Given the description of an element on the screen output the (x, y) to click on. 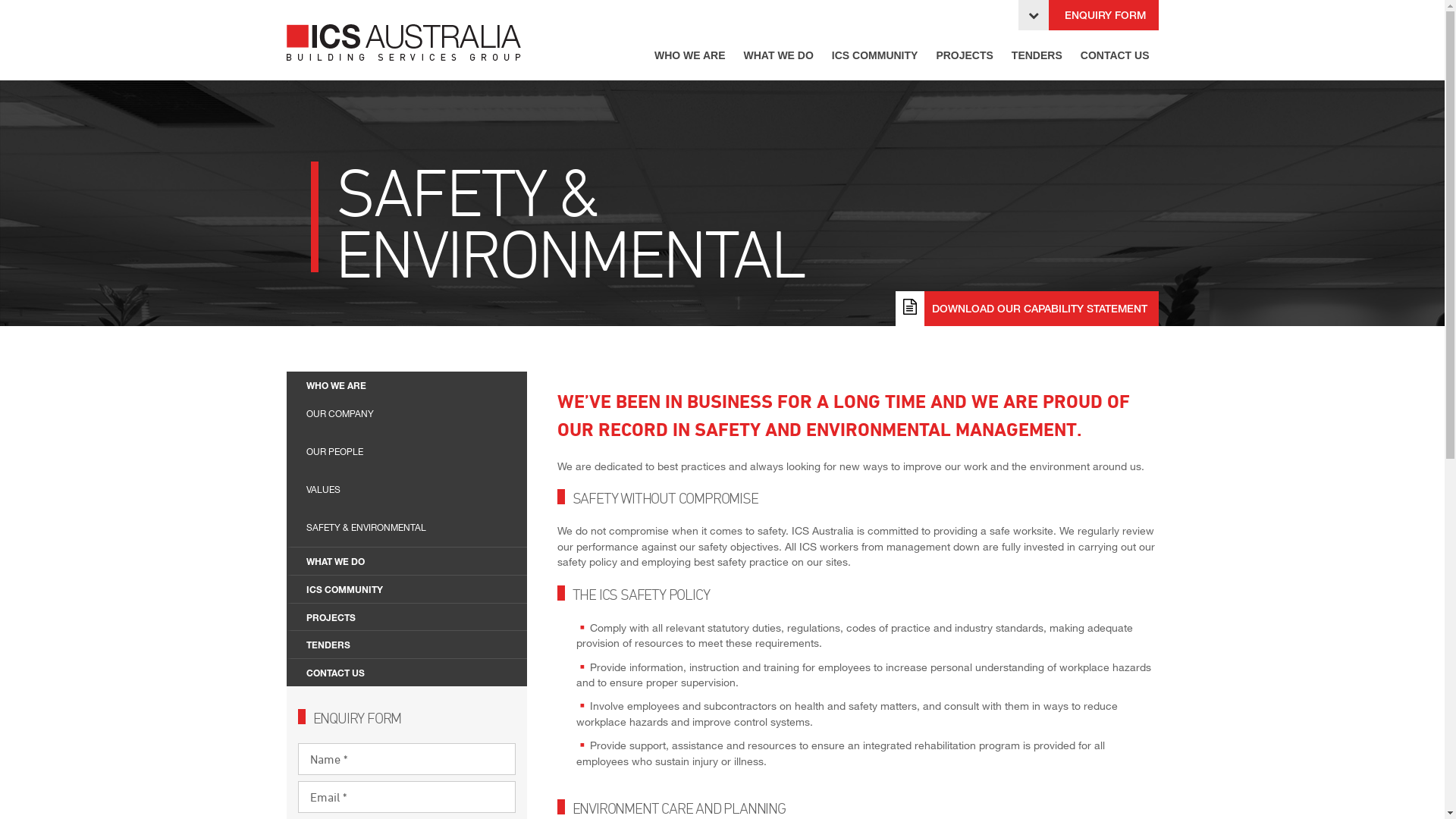
CONTACT US Element type: text (1114, 55)
PROJECTS Element type: text (963, 55)
CONTACT US Element type: text (409, 672)
TENDERS Element type: text (409, 644)
ICS COMMUNITY Element type: text (409, 588)
WHO WE ARE Element type: text (689, 55)
ICS COMMUNITY Element type: text (874, 55)
SAFETY & ENVIRONMENTAL Element type: text (410, 527)
TENDERS Element type: text (1036, 55)
WHO WE ARE Element type: text (409, 384)
OUR COMPANY Element type: text (410, 413)
WHAT WE DO Element type: text (778, 55)
PROJECTS Element type: text (409, 616)
WHAT WE DO Element type: text (409, 560)
OUR PEOPLE Element type: text (410, 451)
VALUES Element type: text (410, 489)
DOWNLOAD OUR CAPABILITY STATEMENT Element type: text (1025, 308)
ENQUIRY FORM Element type: text (1087, 15)
